Given the description of an element on the screen output the (x, y) to click on. 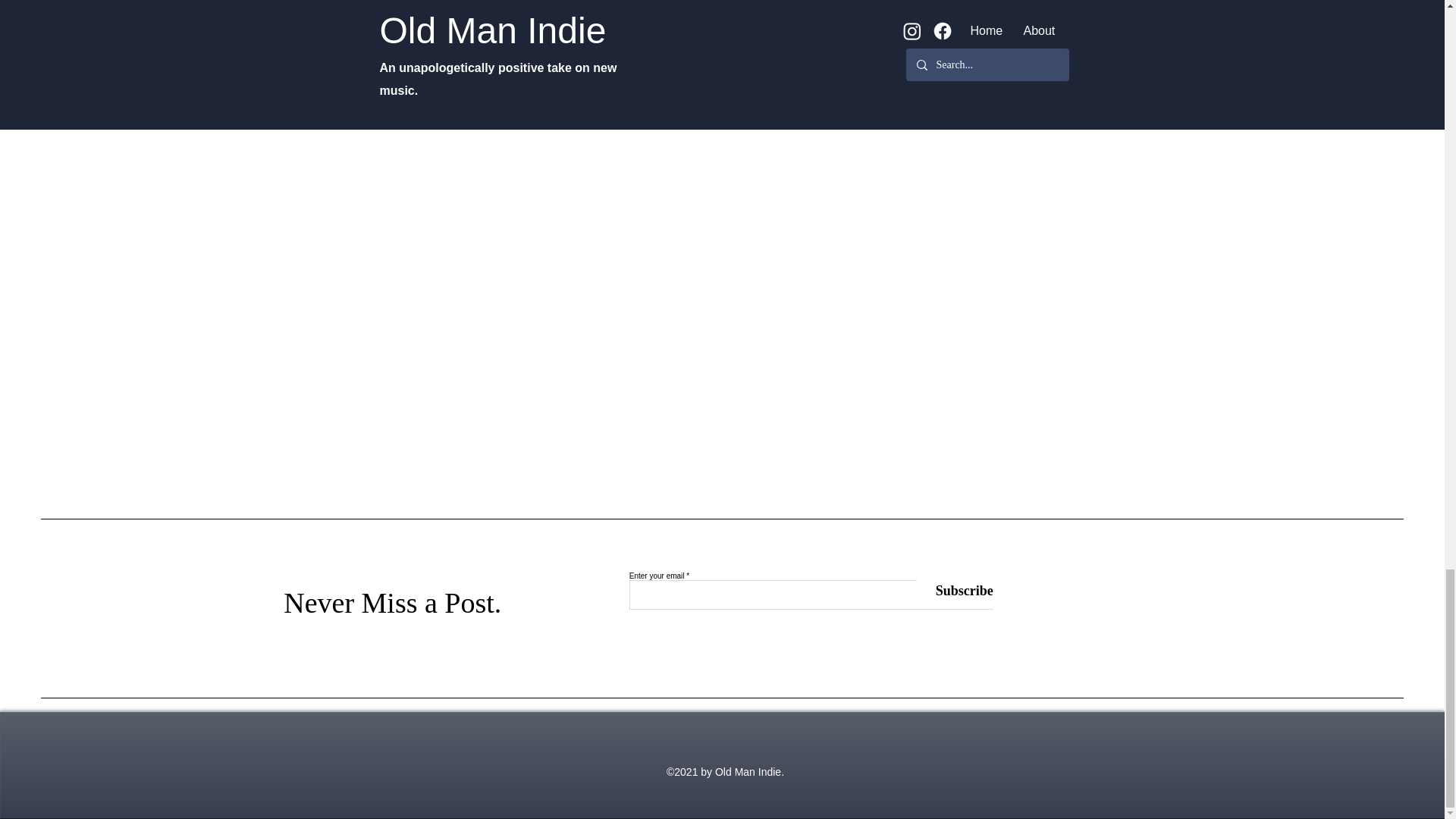
Subscribe (954, 591)
